Given the description of an element on the screen output the (x, y) to click on. 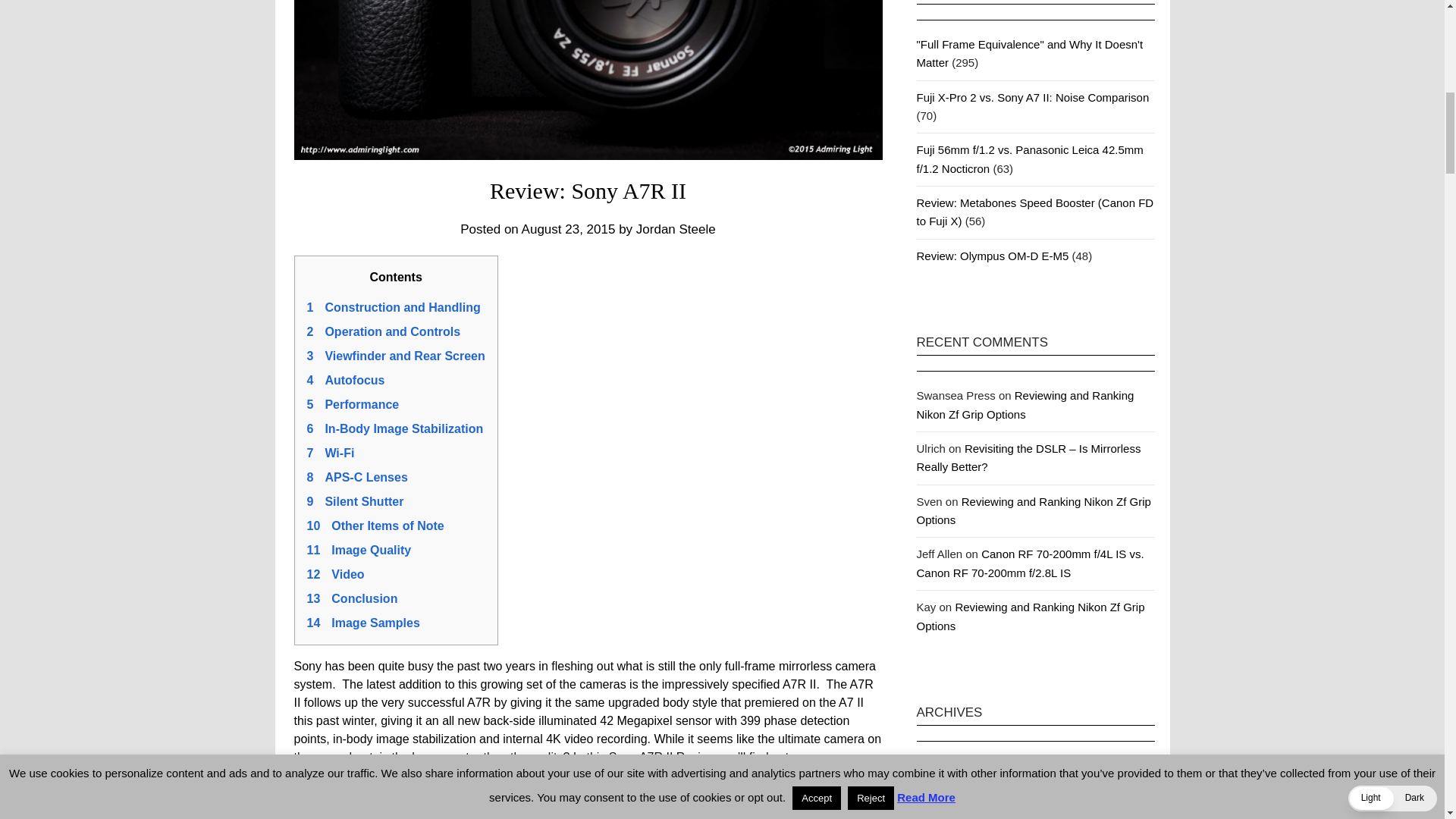
13Conclusion (351, 598)
1Construction and Handling (392, 307)
Jordan Steele (676, 228)
14Image Samples (362, 622)
3Viewfinder and Rear Screen (394, 355)
August 23, 2015 (568, 228)
12Video (334, 574)
6In-Body Image Stabilization (394, 428)
11Image Quality (357, 549)
8APS-C Lenses (356, 477)
